Given the description of an element on the screen output the (x, y) to click on. 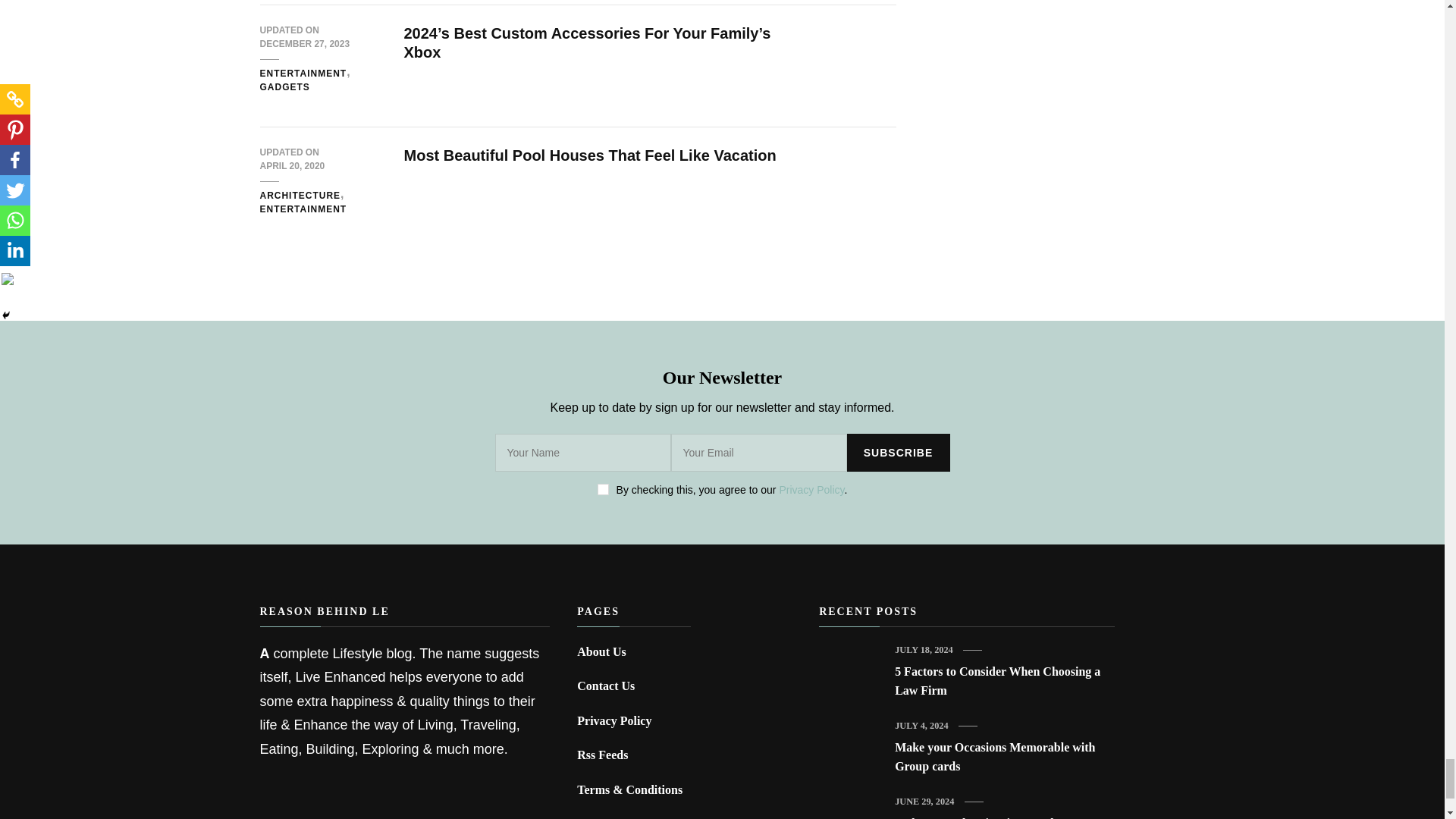
Subscribe (897, 452)
